Given the description of an element on the screen output the (x, y) to click on. 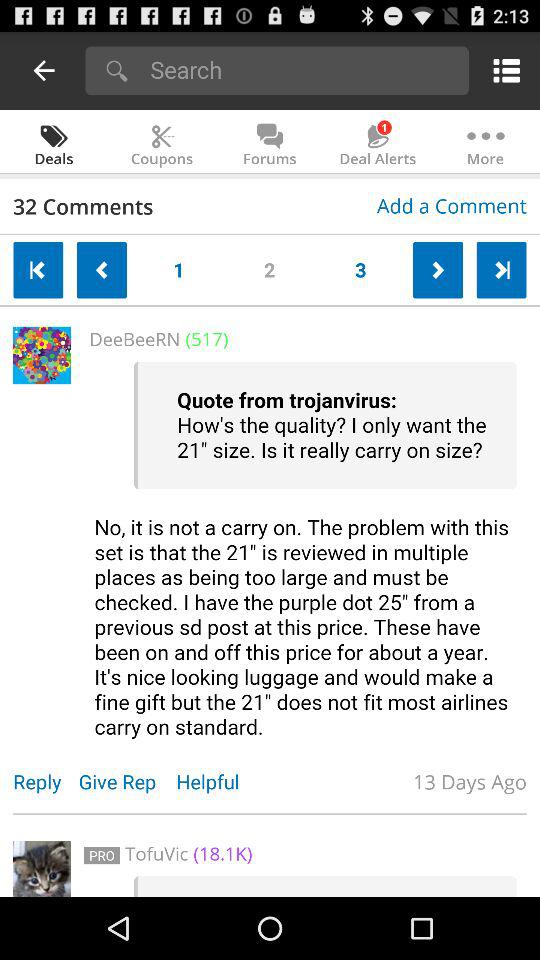
go back (44, 70)
